Given the description of an element on the screen output the (x, y) to click on. 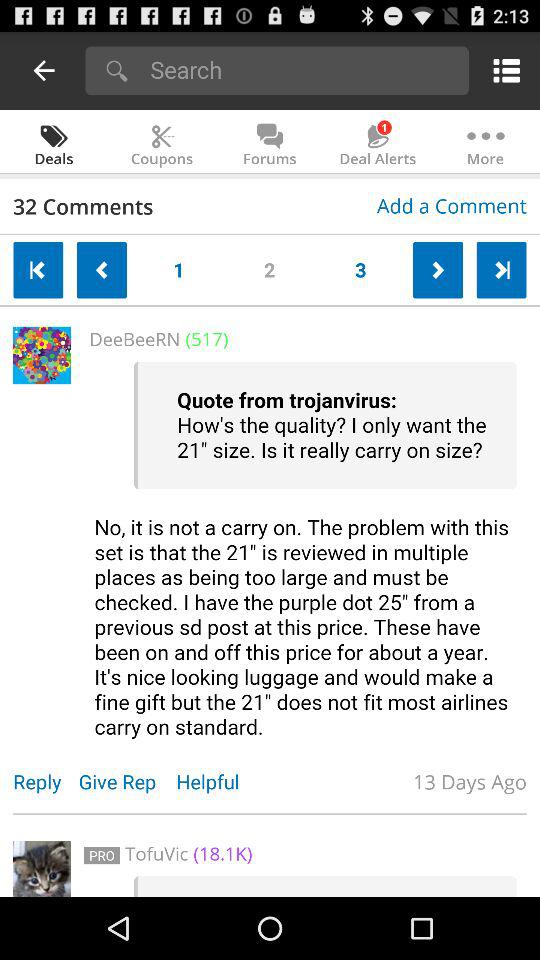
go back (44, 70)
